Given the description of an element on the screen output the (x, y) to click on. 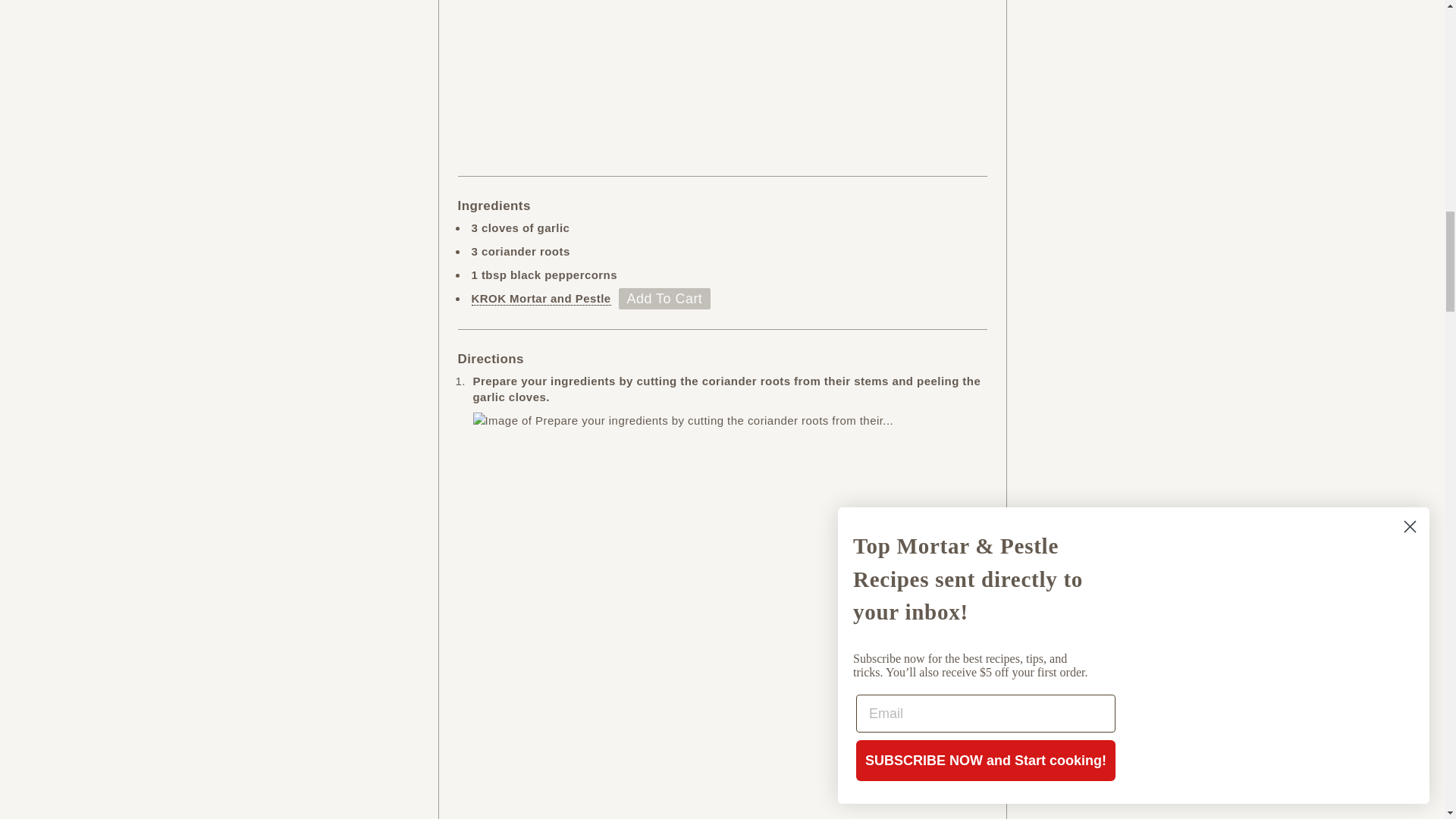
Add To Cart (664, 298)
KROK Mortar and Pestle (541, 298)
